Given the description of an element on the screen output the (x, y) to click on. 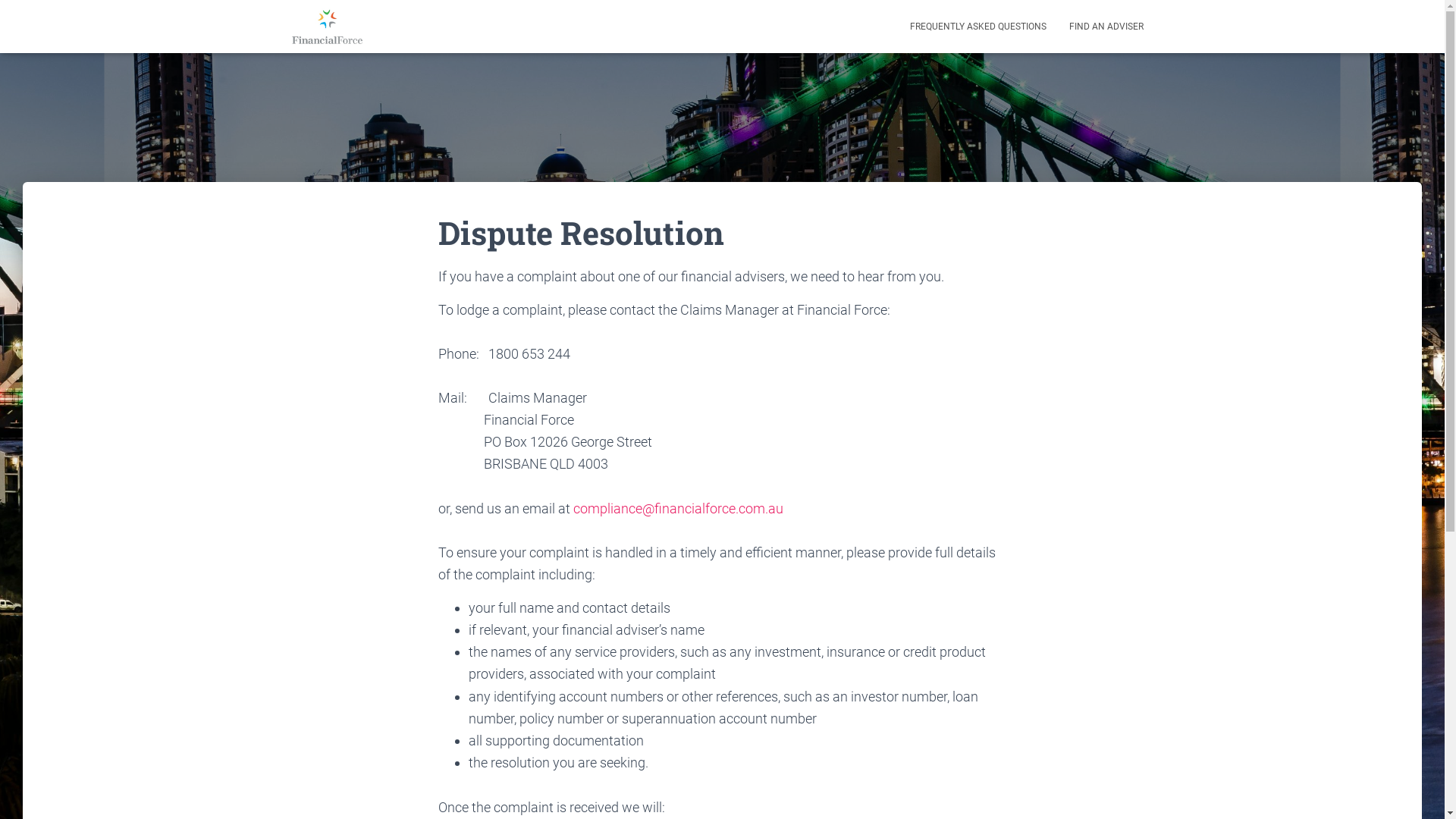
FREQUENTLY ASKED QUESTIONS Element type: text (977, 26)
compliance@financialforce.com.au Element type: text (678, 508)
FIND AN ADVISER Element type: text (1105, 26)
